Given the description of an element on the screen output the (x, y) to click on. 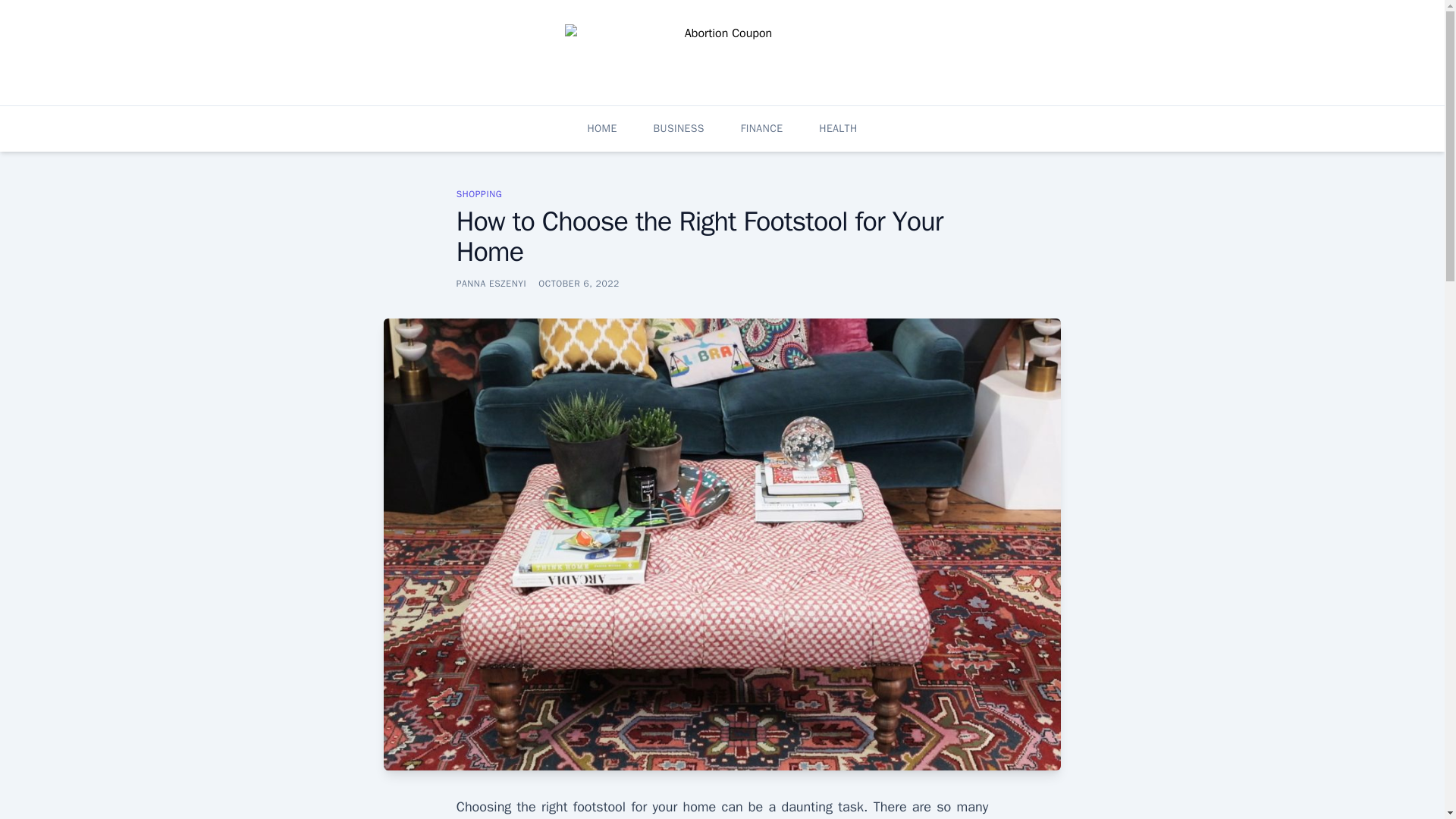
OCTOBER 6, 2022 (579, 283)
FINANCE (762, 128)
BUSINESS (678, 128)
SHOPPING (479, 193)
Abortion Coupon (229, 94)
PANNA ESZENYI (491, 283)
